Given the description of an element on the screen output the (x, y) to click on. 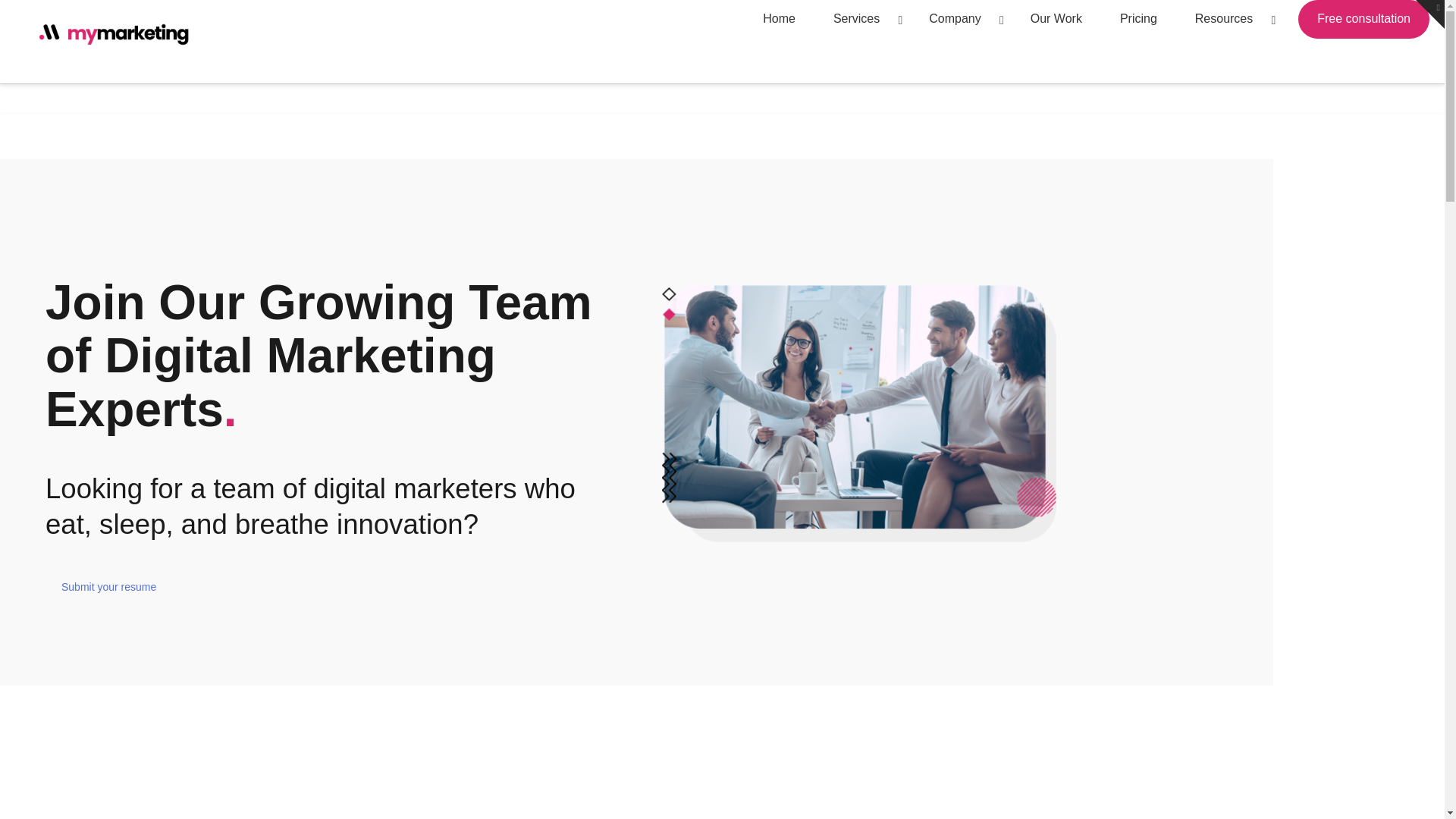
Free consultation (1363, 19)
Company (960, 19)
Contact Us (108, 586)
Services (861, 19)
Our Work (1055, 19)
Pricing (1138, 19)
Home (778, 19)
Submit your resume (108, 586)
Opens a widget where you can chat to one of our agents (1386, 792)
Resources (1229, 19)
